Given the description of an element on the screen output the (x, y) to click on. 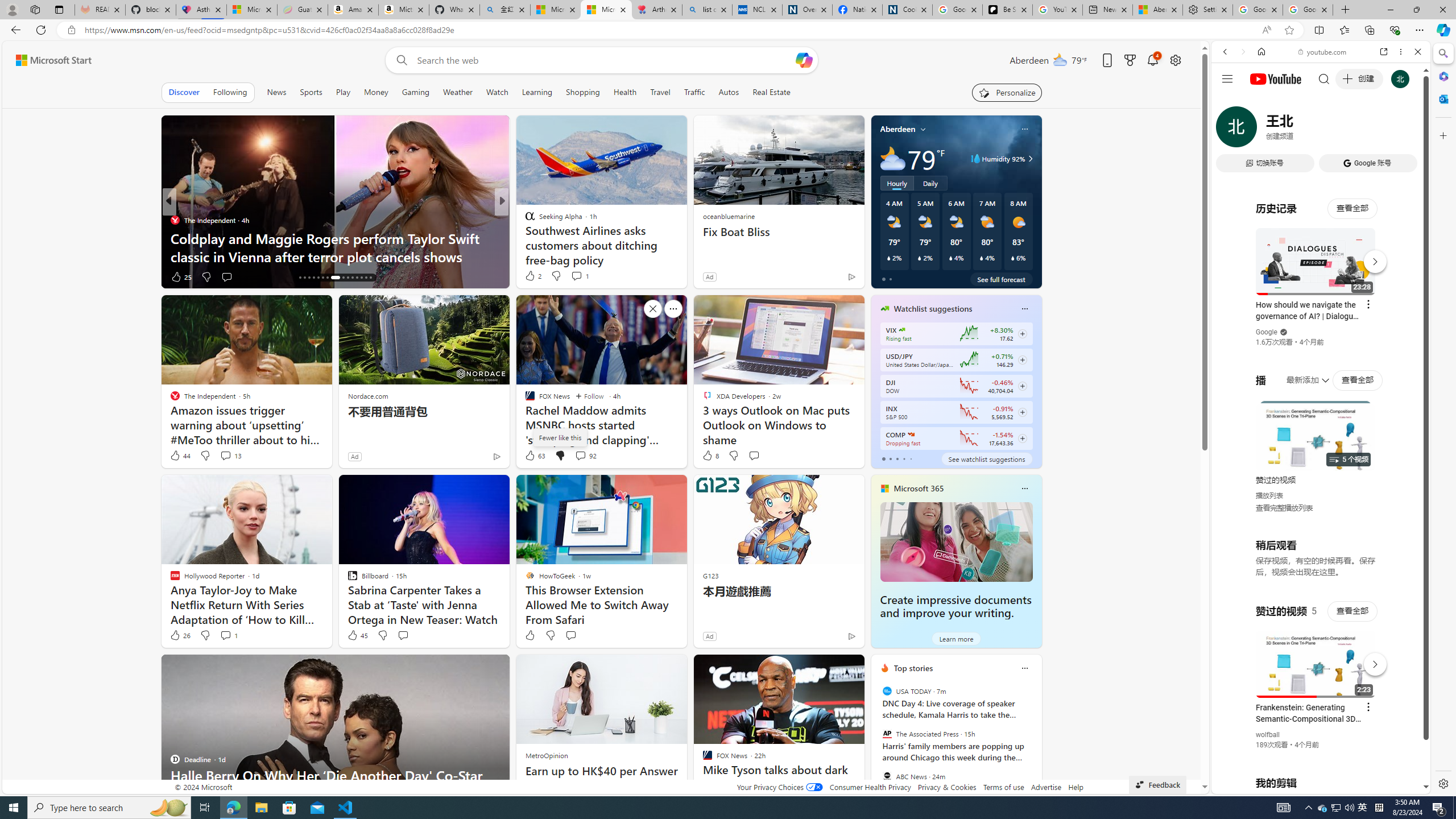
tab-2 (897, 458)
AutomationID: tab-18 (309, 277)
Close Outlook pane (1442, 98)
Traffic (694, 92)
My location (922, 128)
Discover (183, 92)
Actions for this site (1371, 661)
Personalize your feed" (1007, 92)
View comments 3 Comment (576, 276)
Create impressive documents and improve your writing. (955, 541)
